Given the description of an element on the screen output the (x, y) to click on. 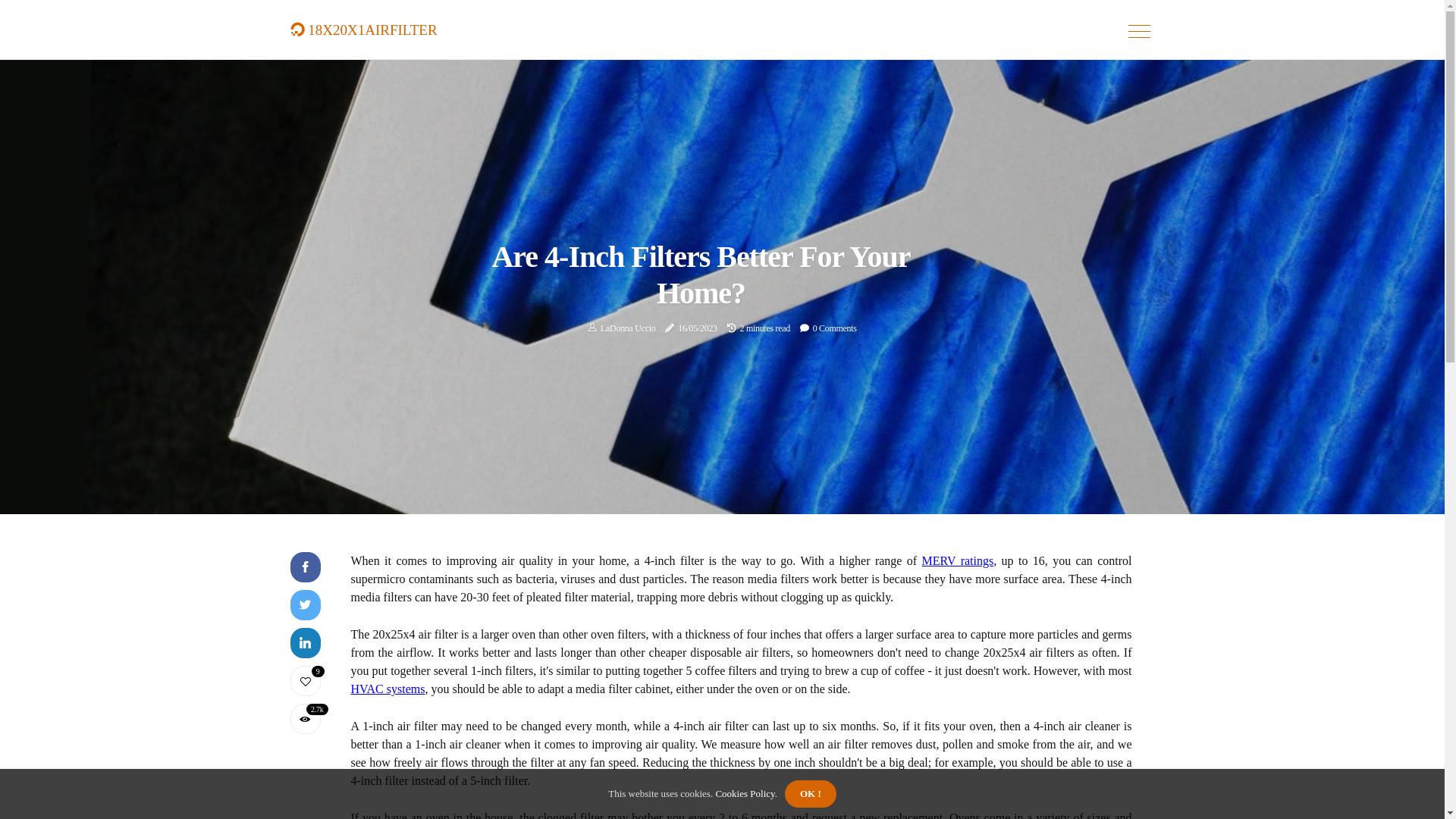
9 Element type: text (304, 680)
18x20x1airfilter Element type: text (362, 26)
Cookies Policy Element type: text (743, 793)
LaDonna Uccio Element type: text (627, 328)
MERV ratings Element type: text (958, 560)
HVAC systems Element type: text (387, 688)
0 Comments Element type: text (834, 328)
